Given the description of an element on the screen output the (x, y) to click on. 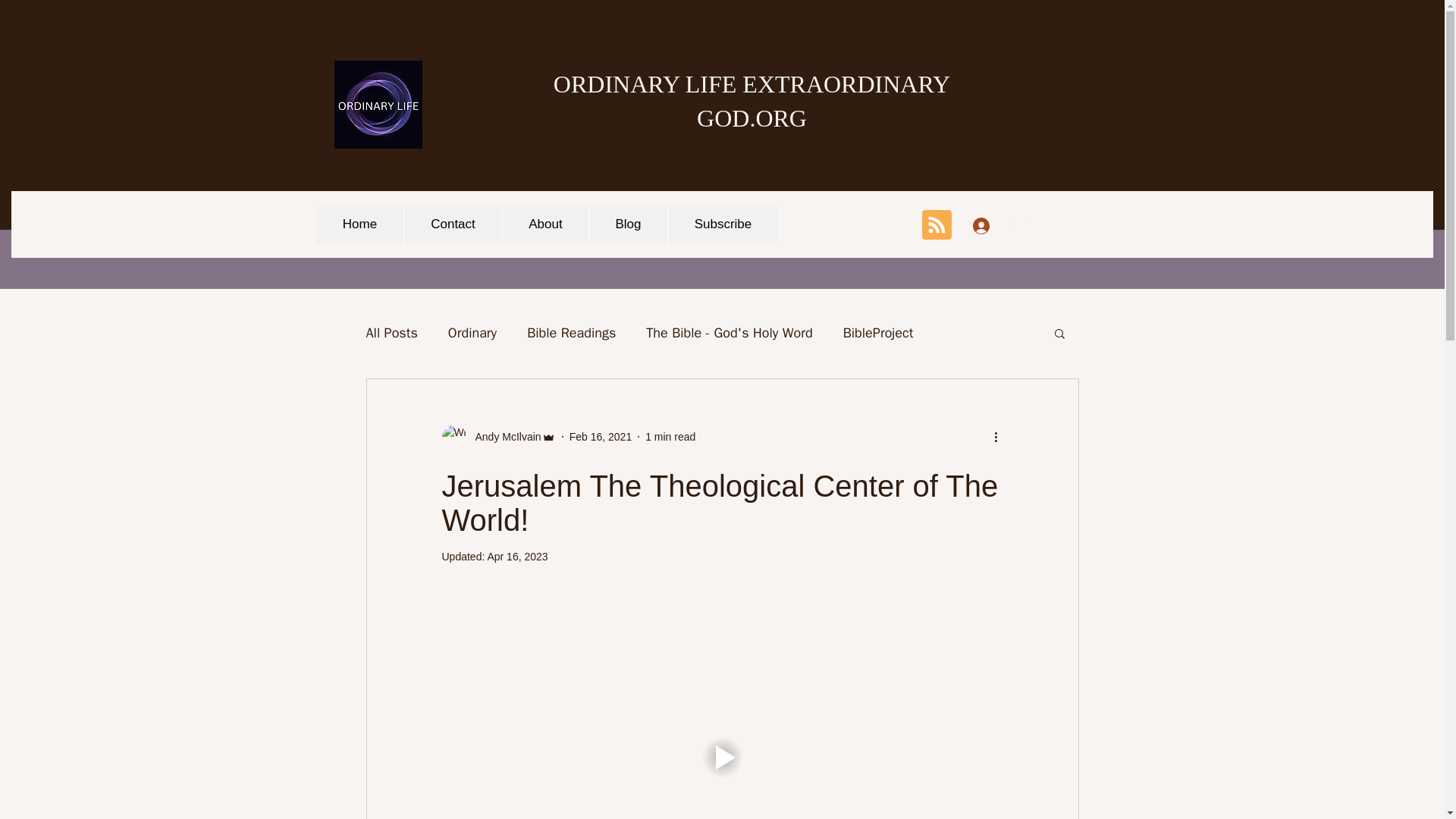
Feb 16, 2021 (600, 436)
Subscribe (721, 224)
ORDINARY LIFE EXTRAORDINARY GOD.ORG (751, 100)
Ordinary (472, 332)
Log In (1001, 225)
The Bible - God's Holy Word (729, 332)
Apr 16, 2023 (516, 556)
All Posts (390, 332)
Blog (627, 224)
Andy McIlvain (502, 437)
